Given the description of an element on the screen output the (x, y) to click on. 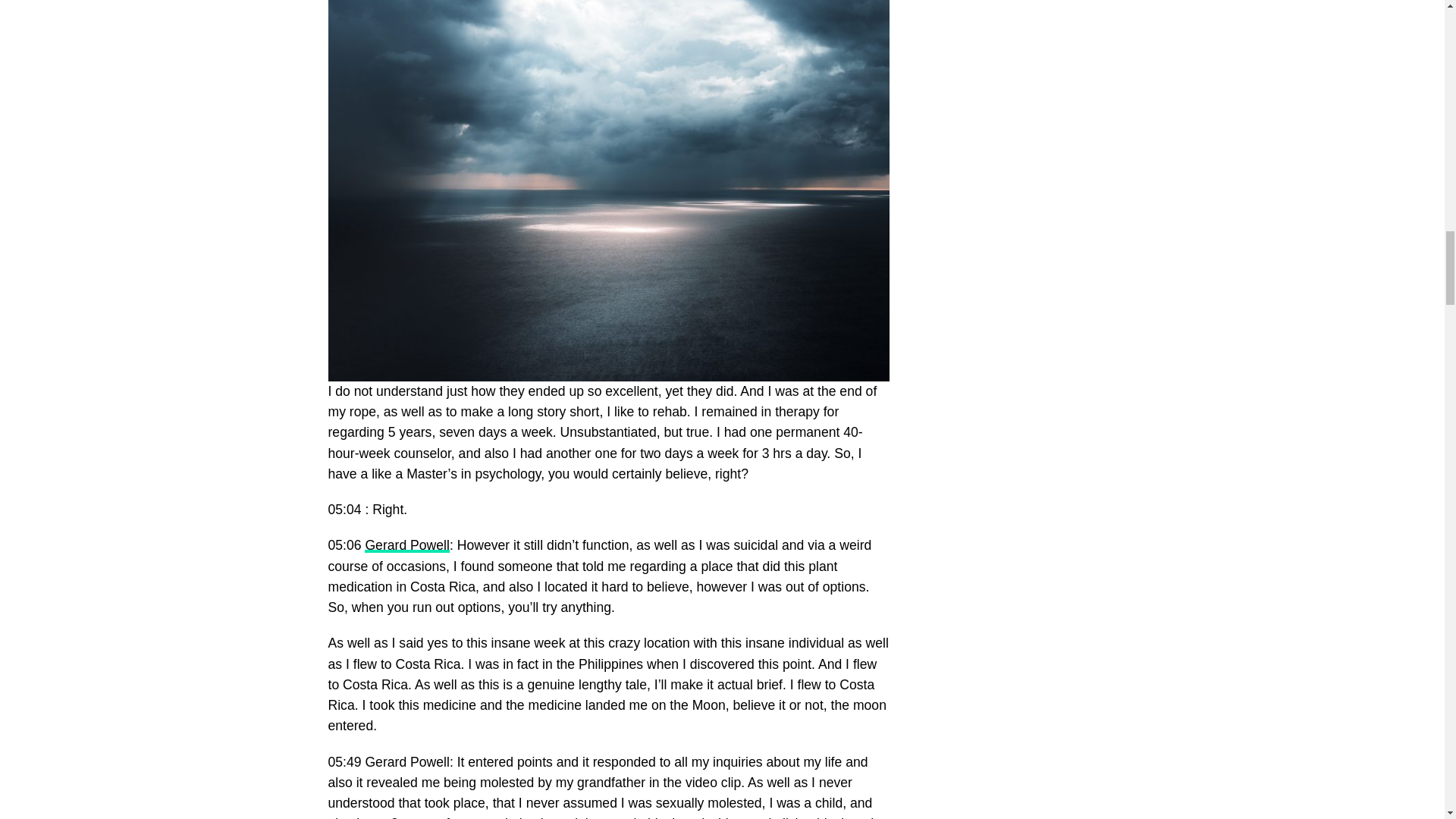
Gerard Powell (406, 544)
